Given the description of an element on the screen output the (x, y) to click on. 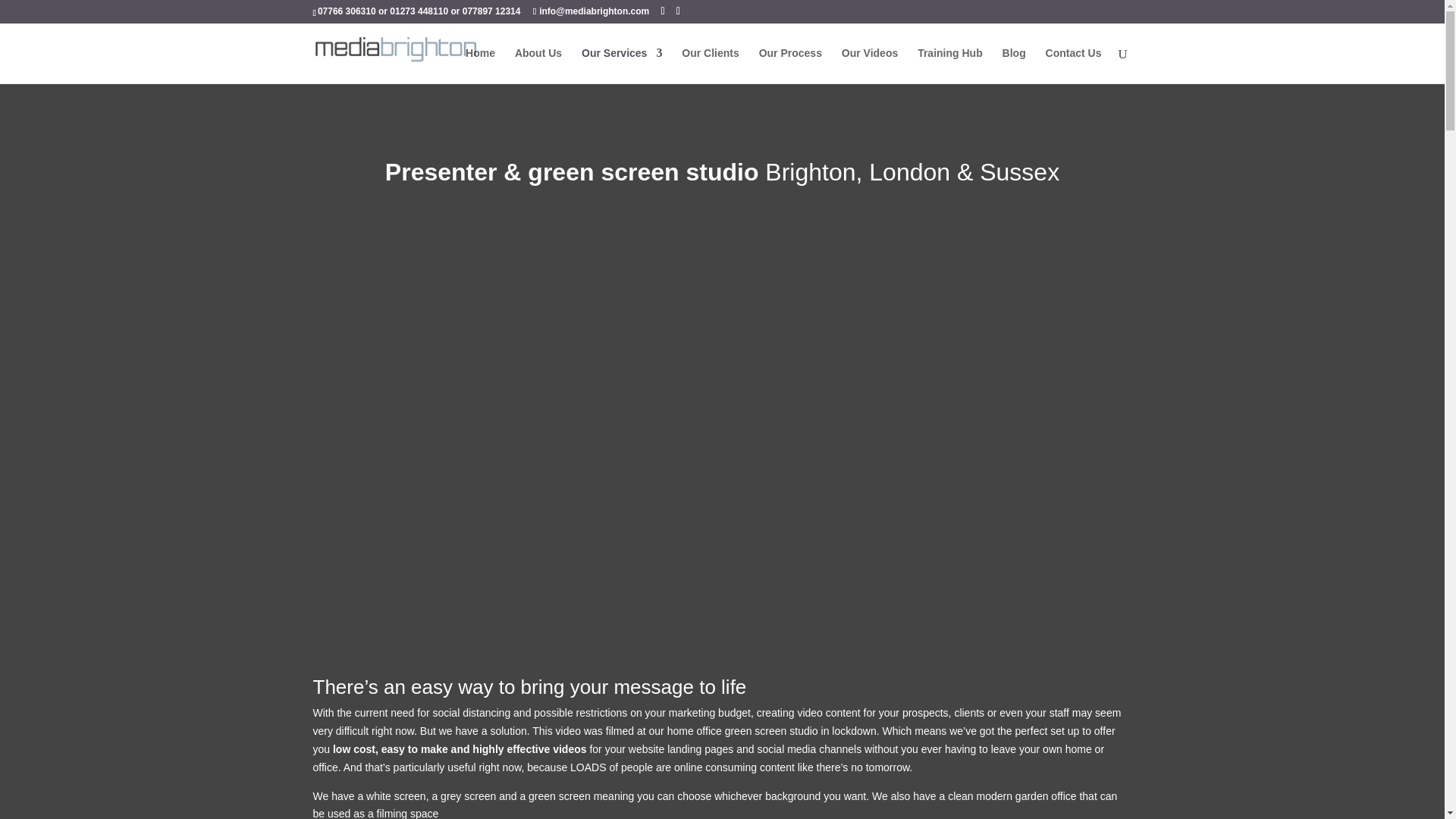
Contact Us (1073, 65)
Web Video Services (621, 65)
Our Videos (869, 65)
Training Hub (949, 65)
Our Process (790, 65)
Training Hub (949, 65)
Our Clients (709, 65)
Our Services (621, 65)
About Us (538, 65)
